Given the description of an element on the screen output the (x, y) to click on. 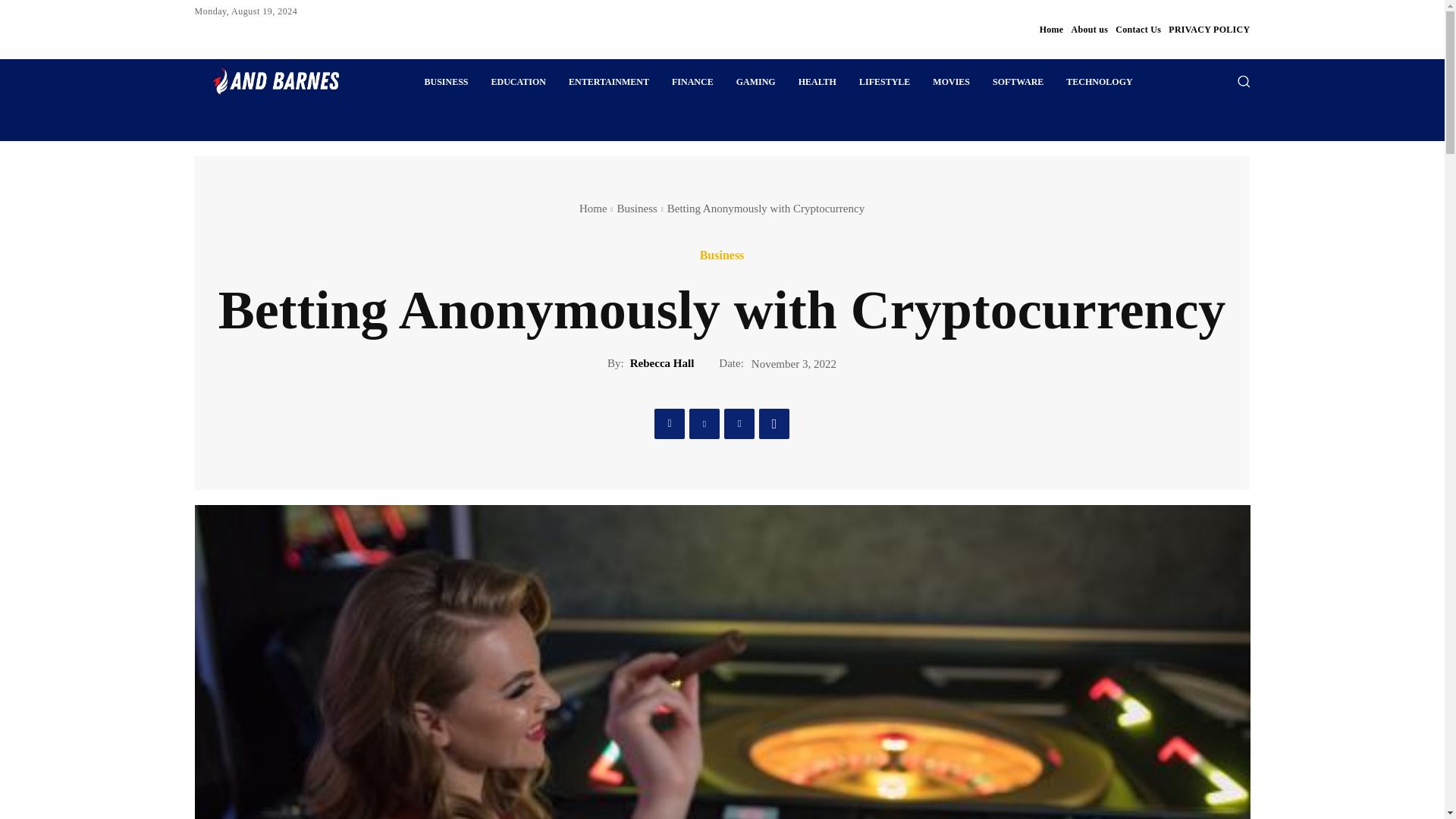
HEALTH (817, 81)
SOFTWARE (1017, 81)
LIFESTYLE (884, 81)
Home (1051, 29)
MOVIES (951, 81)
PRIVACY POLICY (1209, 29)
Business (635, 208)
ENTERTAINMENT (609, 81)
EDUCATION (518, 81)
Contact Us (1137, 29)
